Given the description of an element on the screen output the (x, y) to click on. 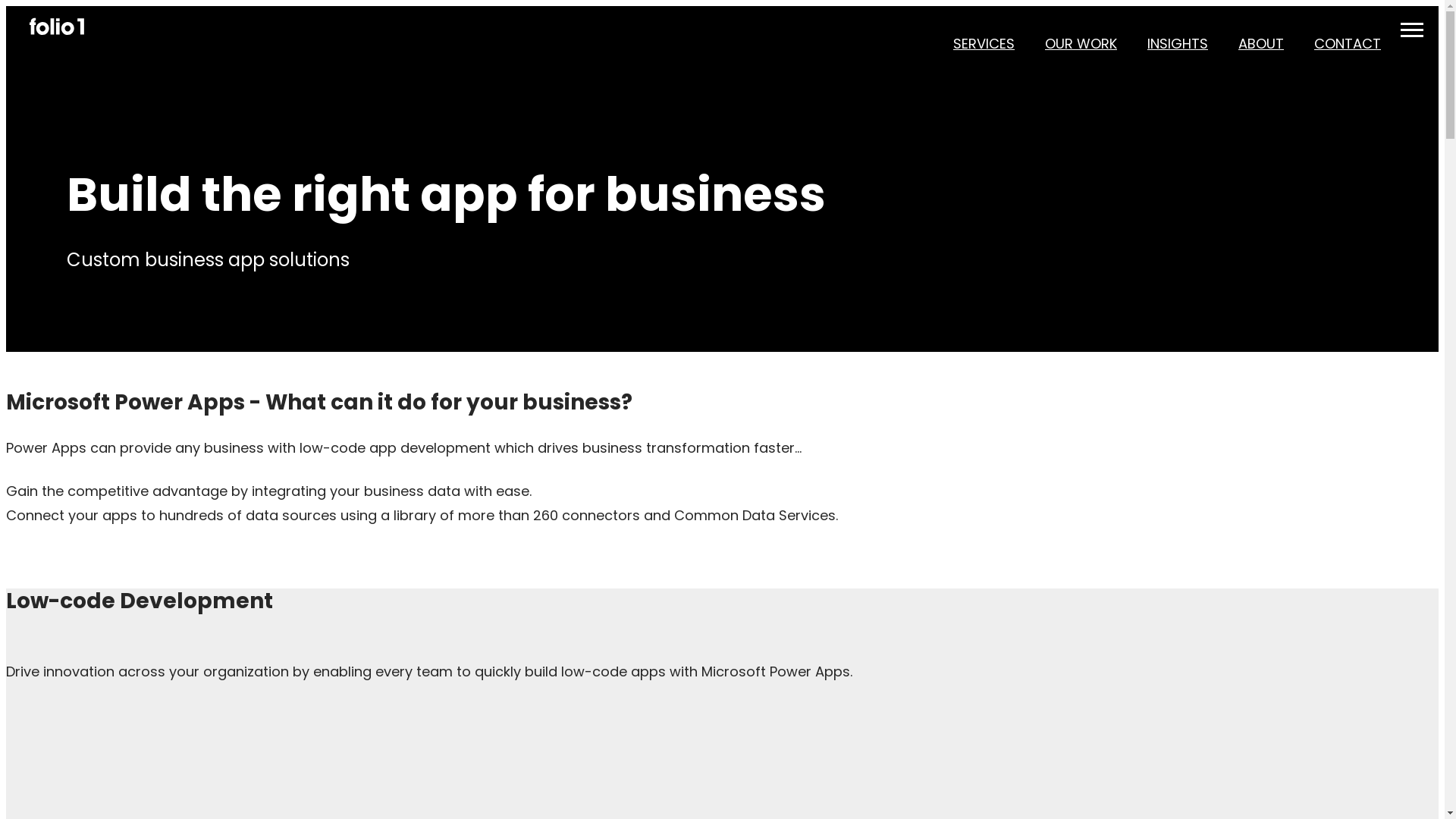
INSIGHTS Element type: text (1177, 43)
ABOUT Element type: text (1260, 43)
CONTACT Element type: text (1347, 43)
OUR WORK Element type: text (1080, 43)
SERVICES Element type: text (983, 43)
